Given the description of an element on the screen output the (x, y) to click on. 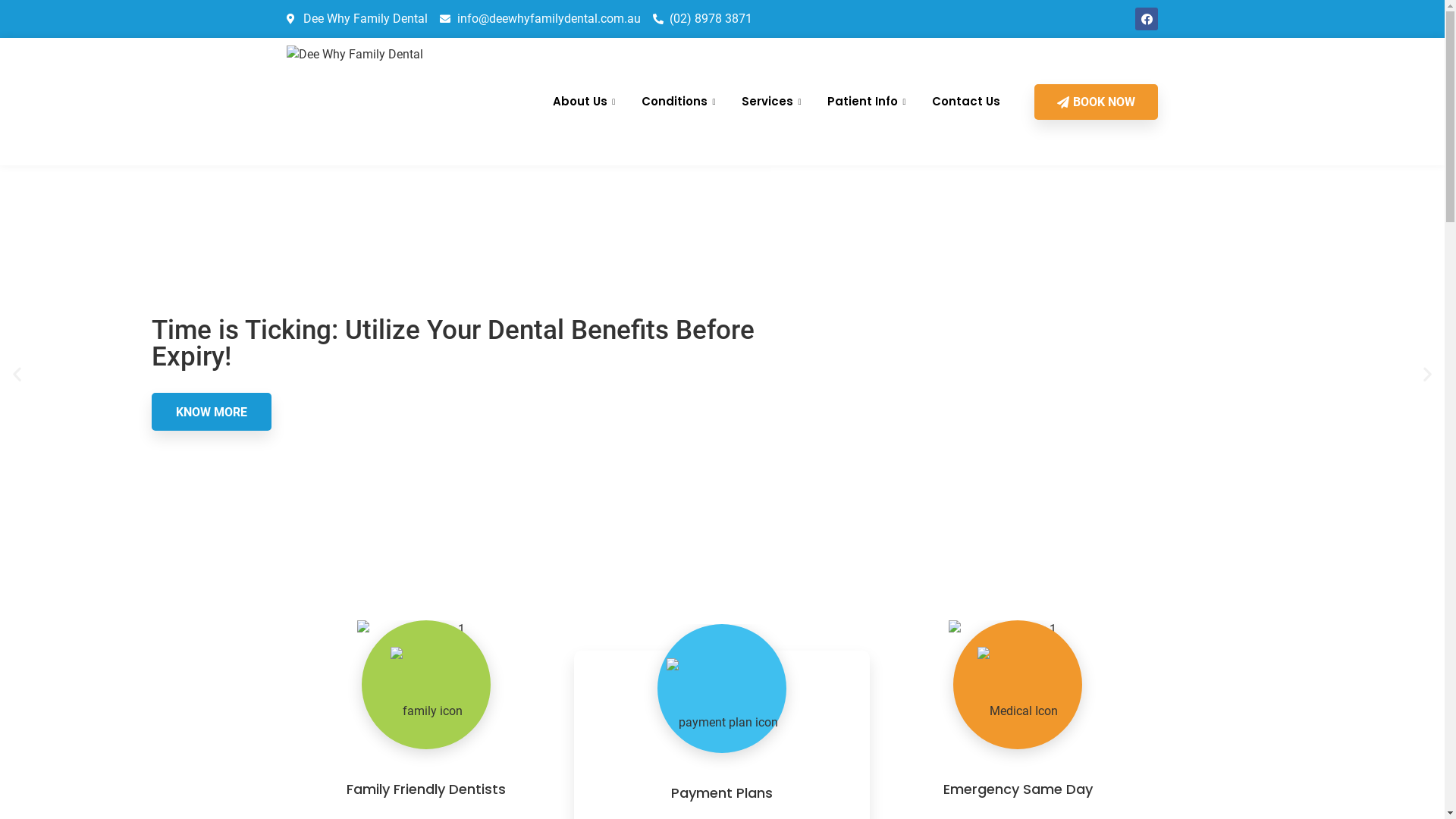
BOOK NOW Element type: text (1095, 101)
info@deewhyfamilydental.com.au Element type: text (539, 18)
Dee Why Family Dental Element type: text (357, 18)
Contact Us Element type: text (965, 101)
About Us Element type: text (585, 101)
Services Element type: text (772, 101)
Conditions Element type: text (680, 101)
(02) 8978 3871 Element type: text (702, 18)
Patient Info Element type: text (867, 101)
